Given the description of an element on the screen output the (x, y) to click on. 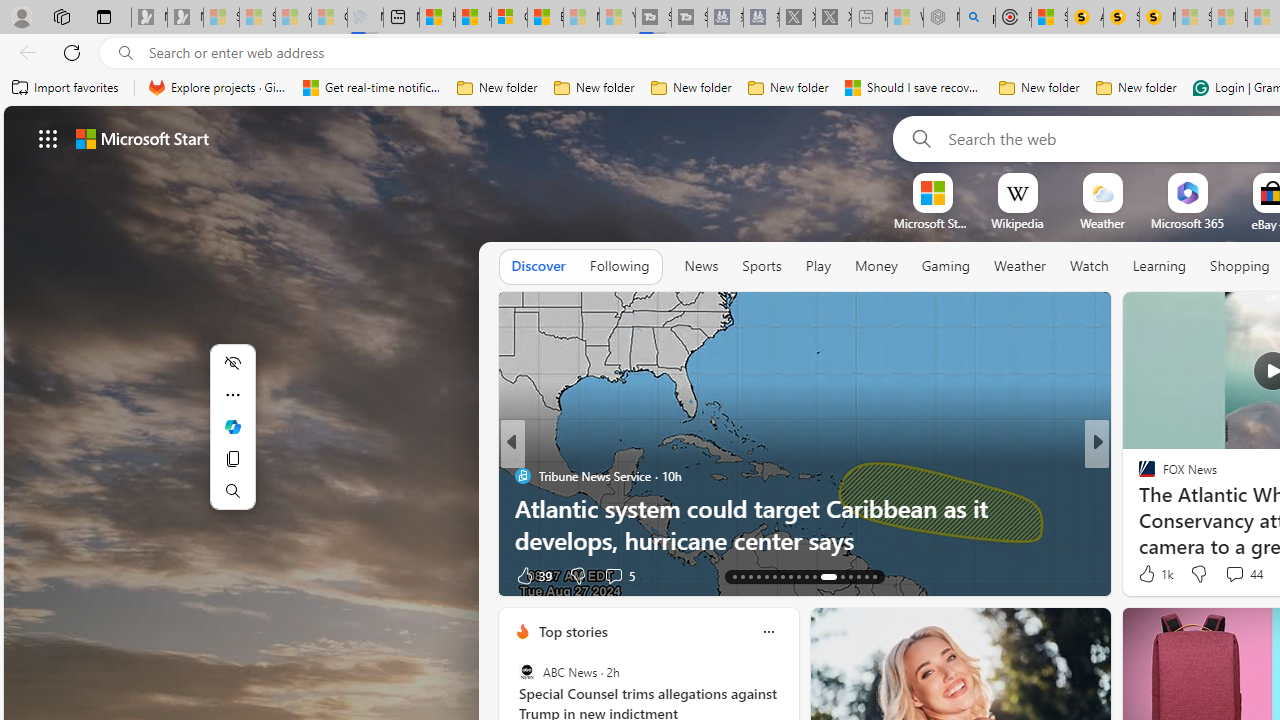
AutomationID: tab-19 (782, 576)
The Kanso (1138, 475)
AutomationID: tab-26 (850, 576)
CNBC (522, 475)
More actions (232, 394)
AutomationID: tab-16 (757, 576)
AutomationID: tab-23 (814, 576)
128 Like (1151, 574)
AutomationID: tab-28 (865, 576)
